Given the description of an element on the screen output the (x, y) to click on. 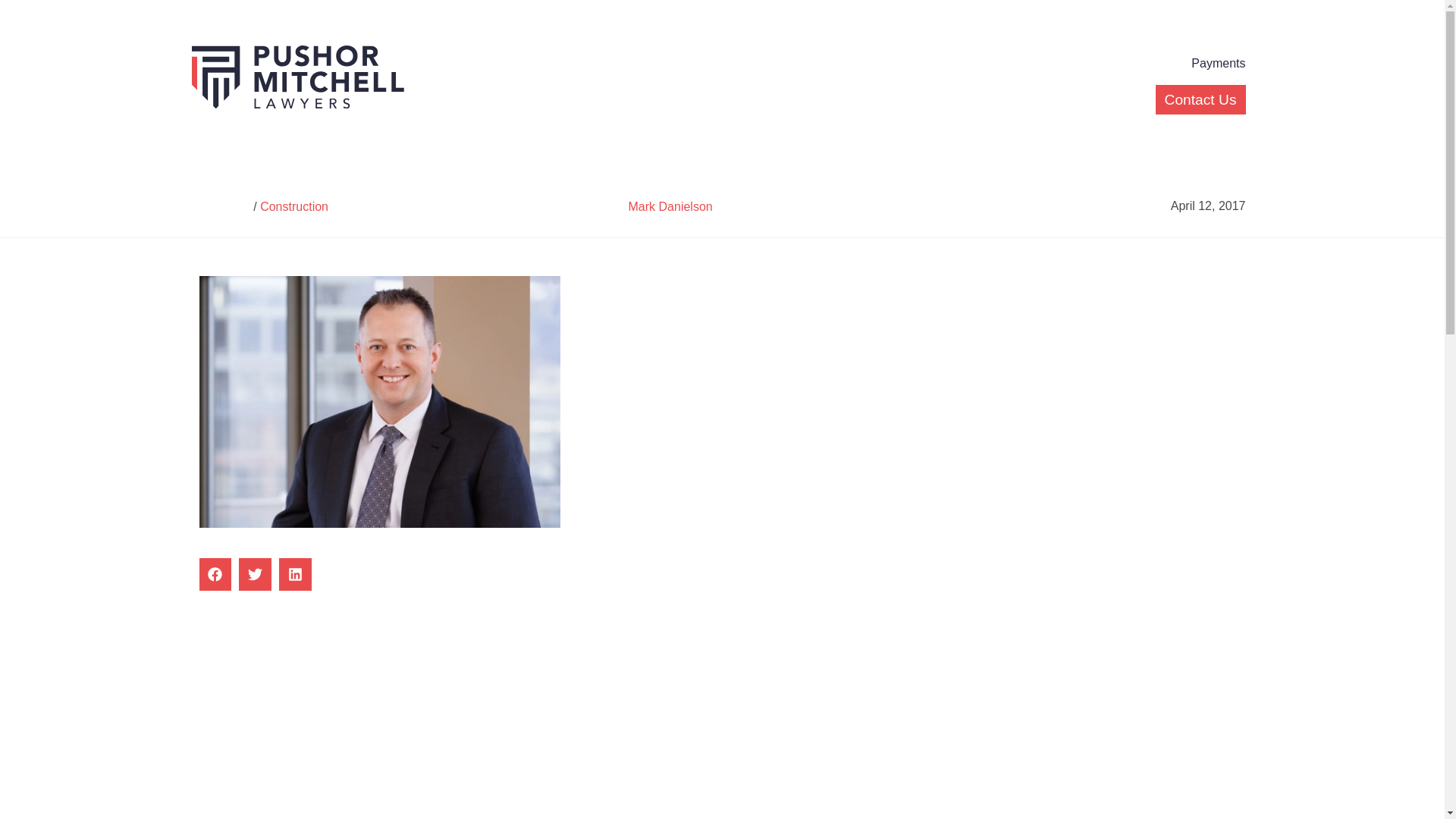
Payments (1217, 63)
Construction (294, 205)
Contact Us (1201, 99)
Mark Danielson (670, 205)
Posts by Mark Danielson (670, 205)
